Given the description of an element on the screen output the (x, y) to click on. 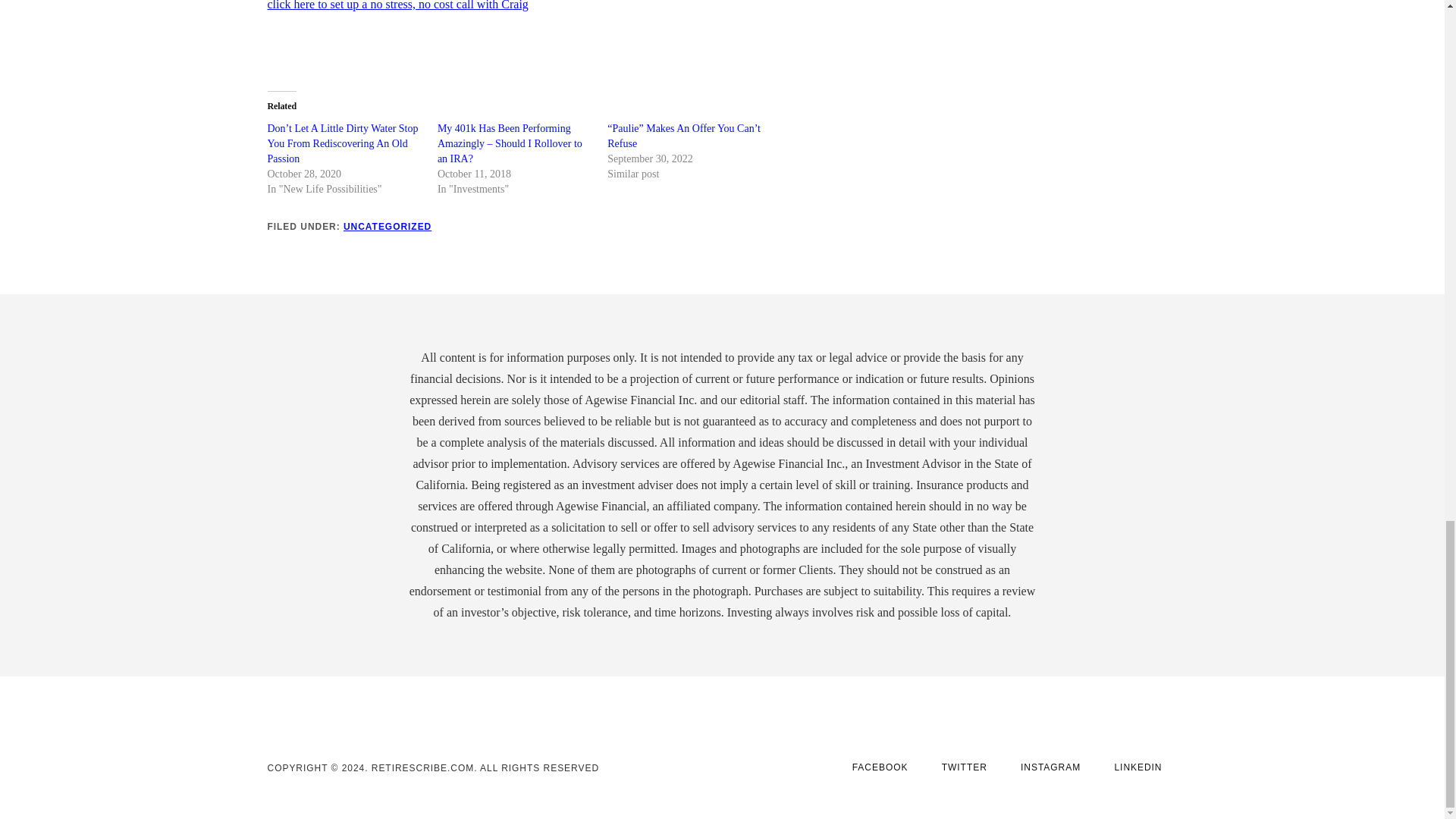
LINKEDIN (1137, 767)
click here to set up a no stress, no cost call with Craig (396, 5)
TWITTER (964, 767)
INSTAGRAM (1051, 767)
UNCATEGORIZED (386, 226)
FACEBOOK (880, 767)
